Given the description of an element on the screen output the (x, y) to click on. 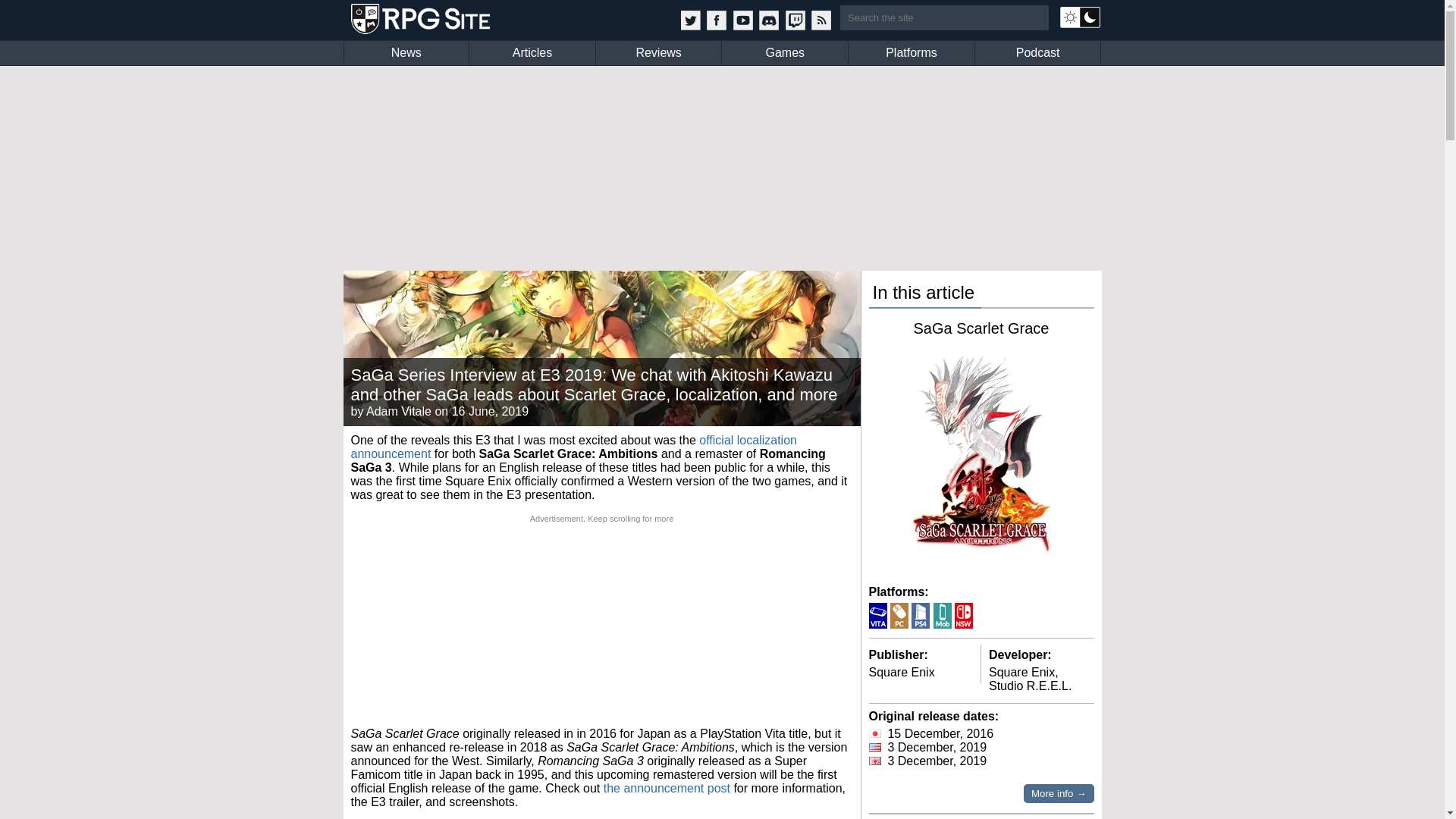
News (405, 52)
Podcast (1037, 52)
Adam Vitale (398, 410)
Reviews (658, 52)
Games (784, 52)
official localization announcement (573, 447)
the announcement post (667, 788)
Platforms (911, 52)
SaGa Scarlet Grace (981, 328)
Articles (531, 52)
